Given the description of an element on the screen output the (x, y) to click on. 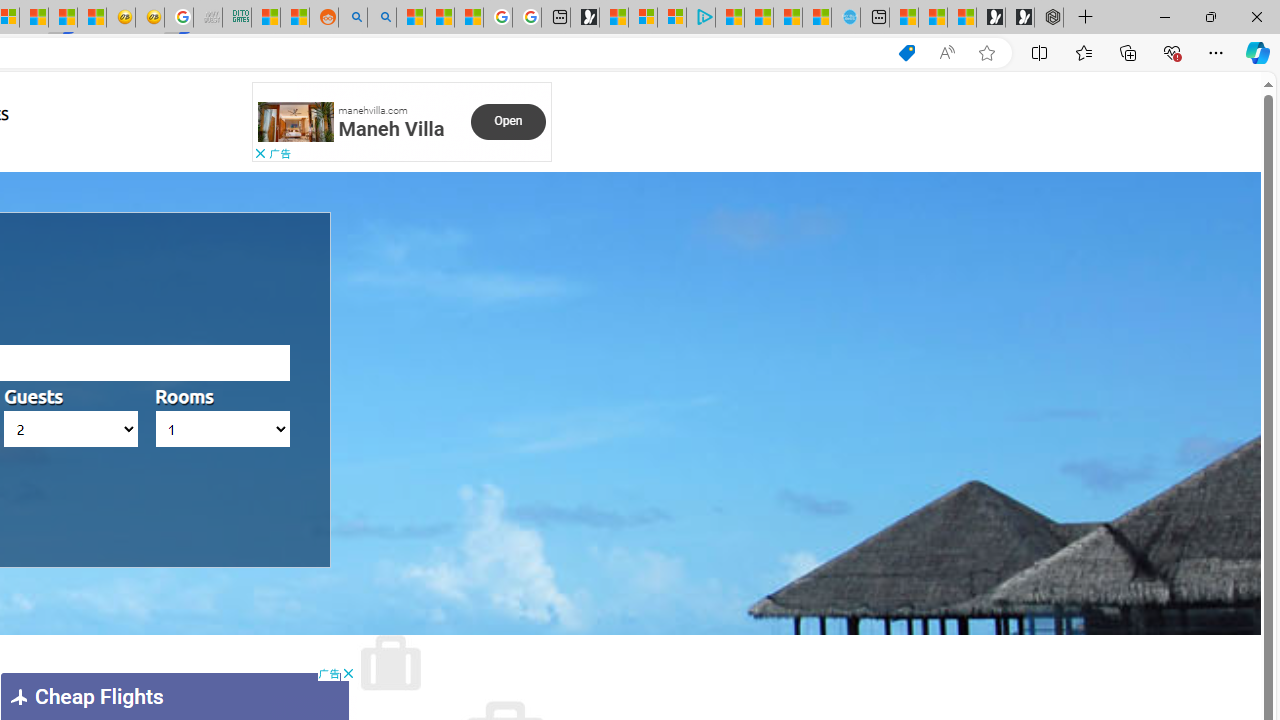
Maneh Villa (391, 128)
